Given the description of an element on the screen output the (x, y) to click on. 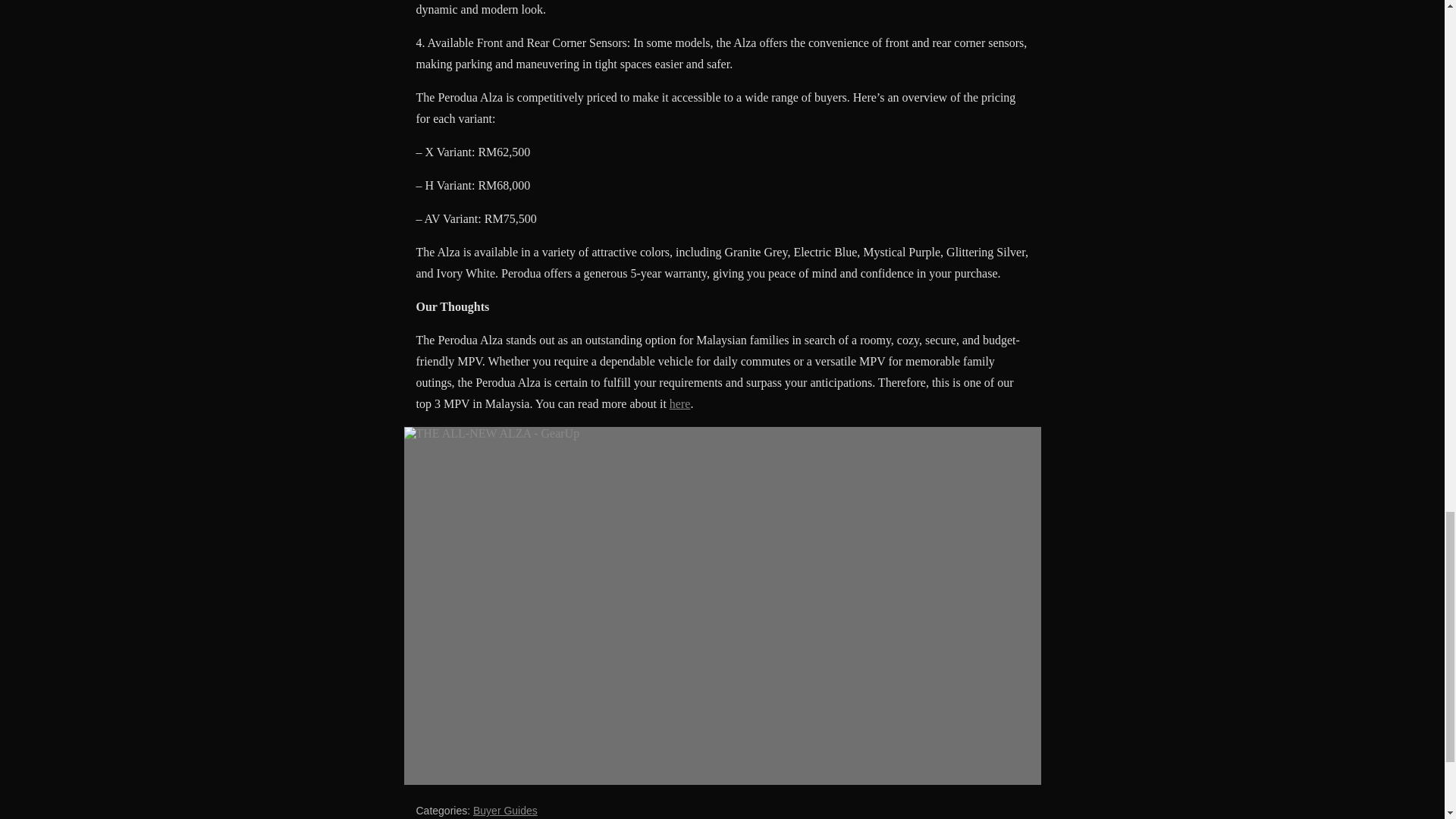
Buyer Guides (505, 810)
here (679, 403)
